Given the description of an element on the screen output the (x, y) to click on. 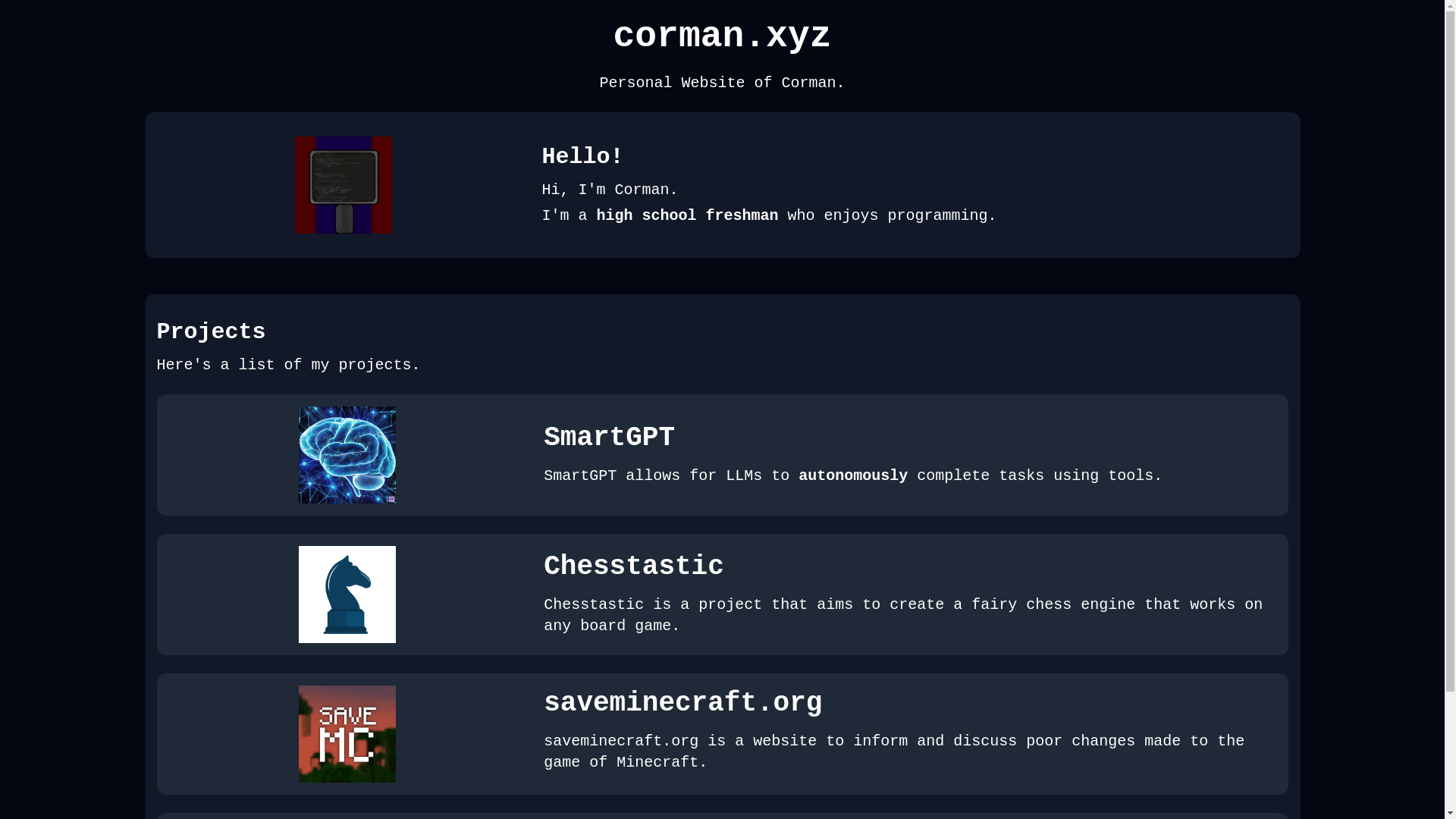
saveminecraft.org Element type: text (682, 702)
SmartGPT Element type: text (608, 437)
Chesstastic Element type: text (633, 566)
